Given the description of an element on the screen output the (x, y) to click on. 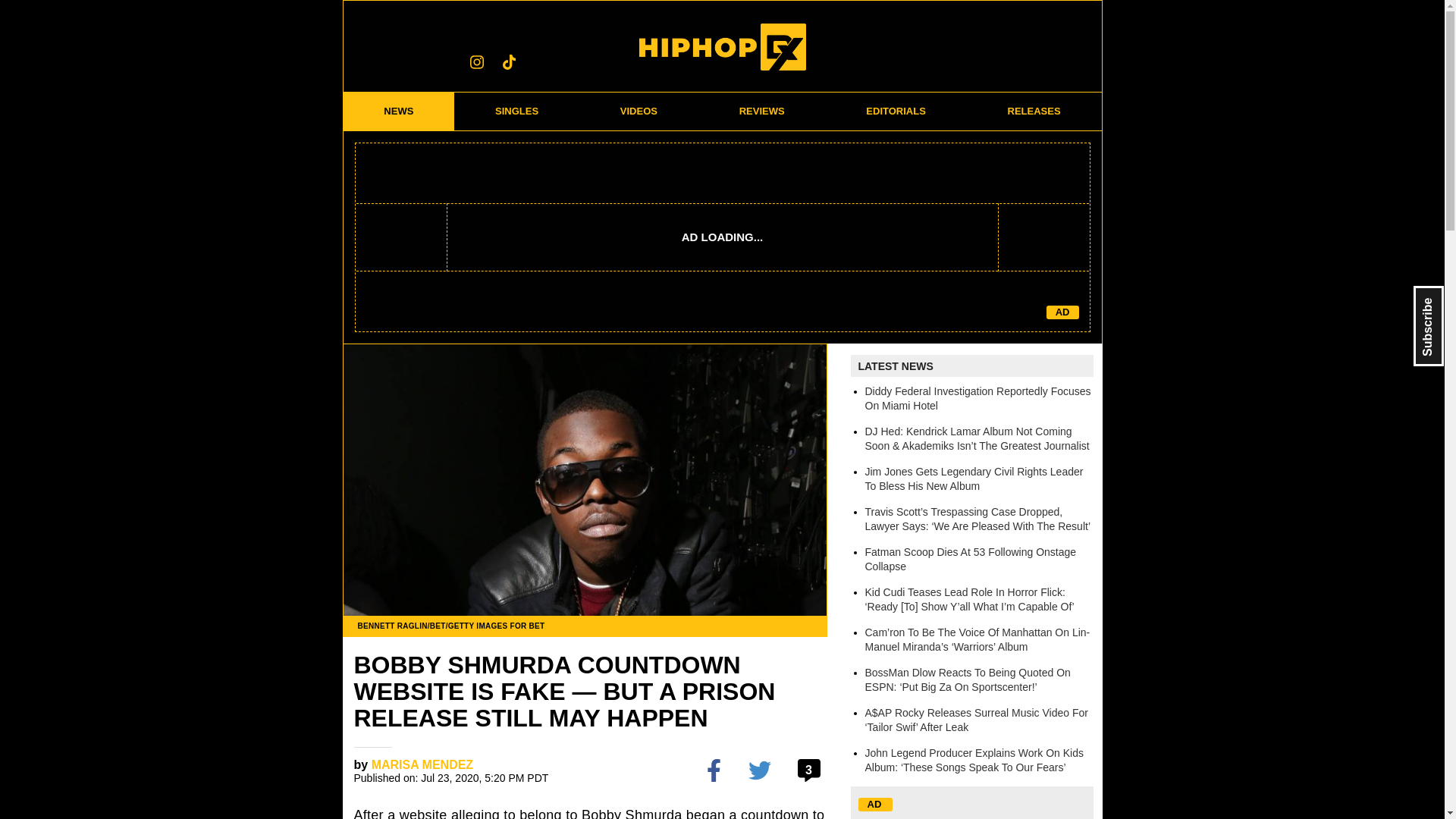
EDITORIALS (895, 111)
SINGLES (516, 111)
VIDEOS (638, 111)
Bobby Shmurda (631, 813)
MARISA MENDEZ (422, 764)
RELEASES (1034, 111)
NEWS (398, 111)
3 (810, 770)
REVIEWS (761, 111)
